Given the description of an element on the screen output the (x, y) to click on. 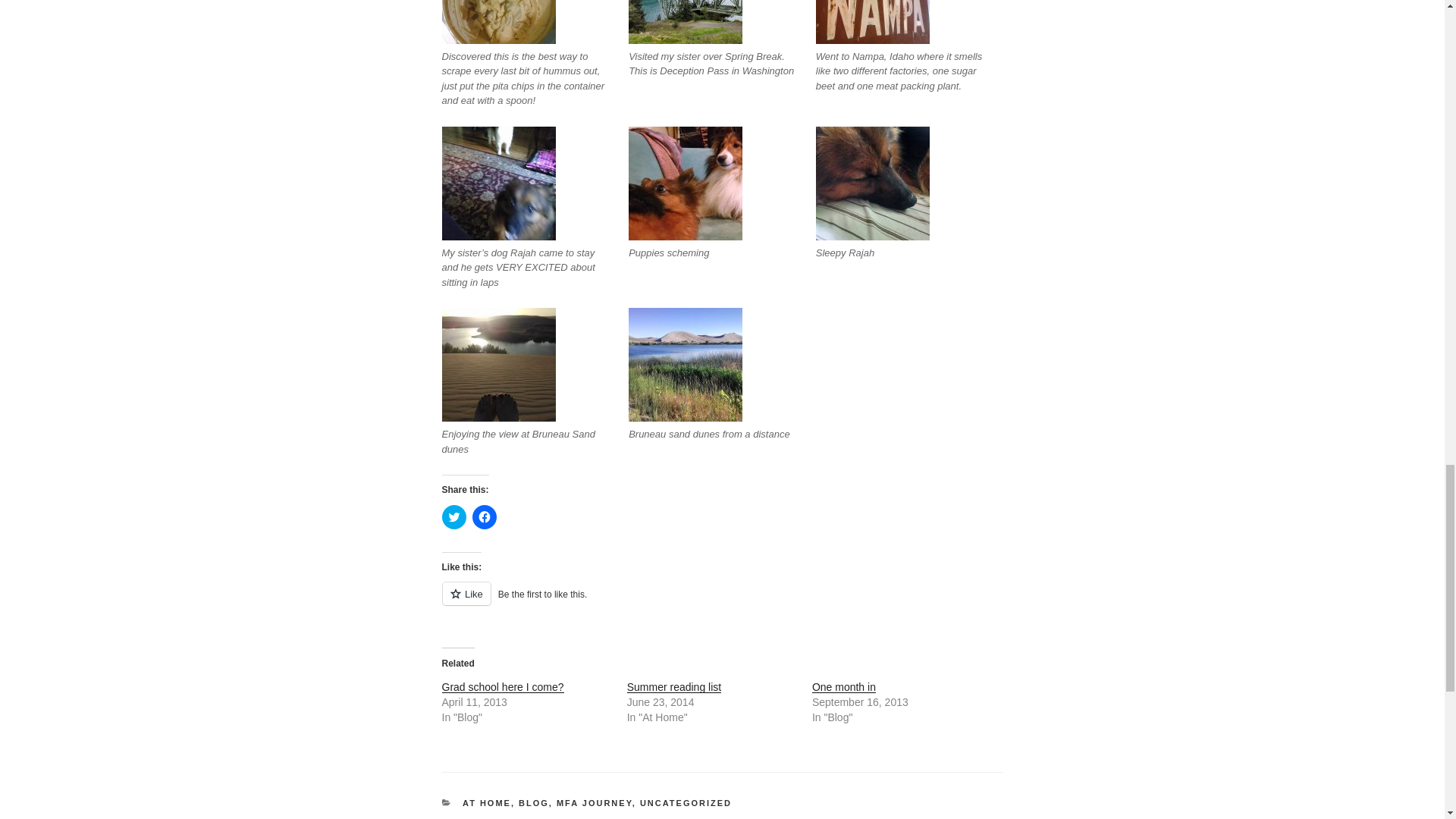
One month in (844, 686)
Click to share on Twitter (453, 517)
UNCATEGORIZED (686, 802)
Like or Reblog (722, 602)
AT HOME (487, 802)
Summer reading list (674, 686)
BLOG (533, 802)
Summer reading list (674, 686)
Grad school here I come? (502, 686)
Click to share on Facebook (483, 517)
Grad school here I come? (502, 686)
MFA JOURNEY (593, 802)
One month in (844, 686)
